Given the description of an element on the screen output the (x, y) to click on. 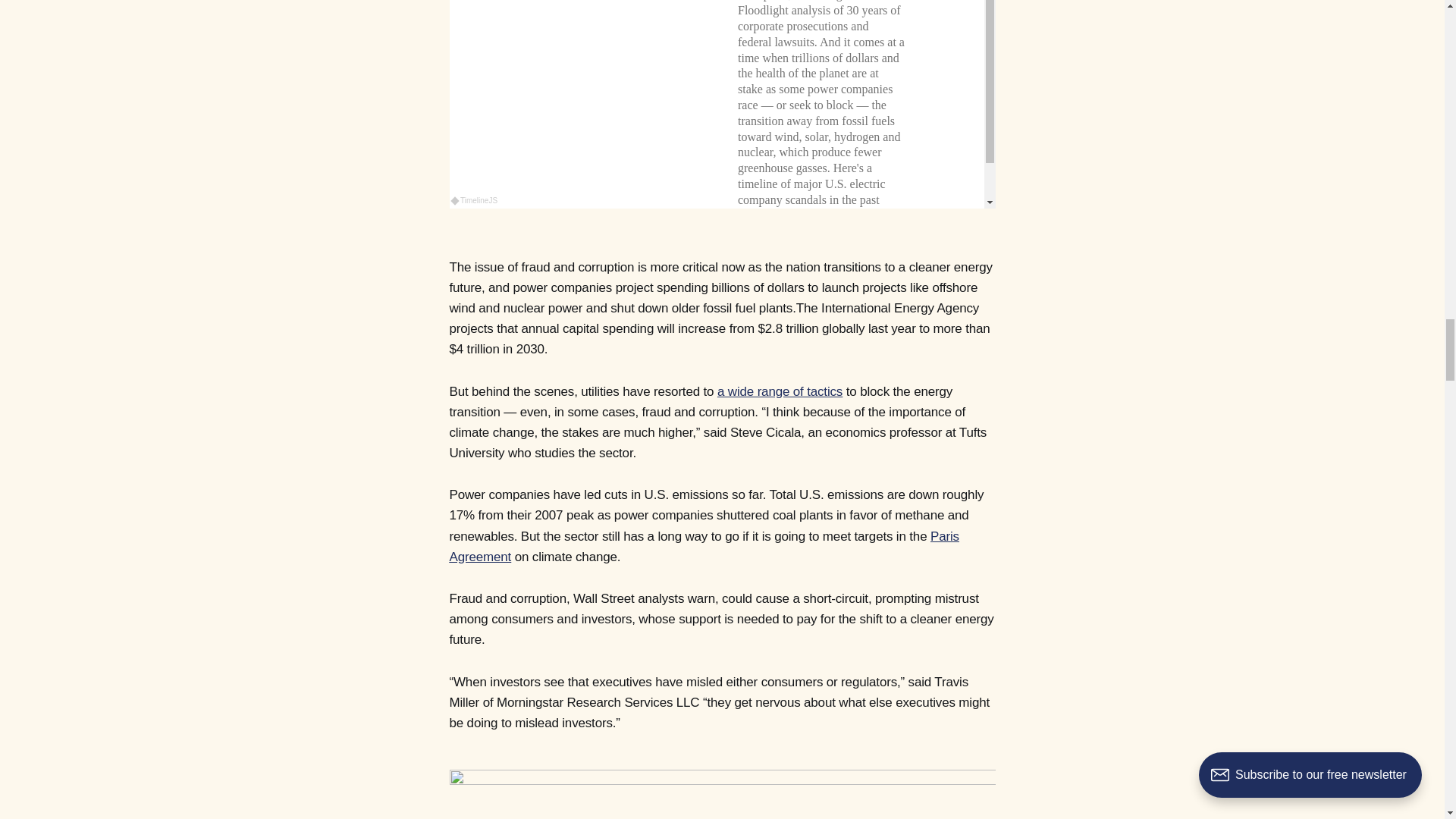
Paris Agreement (703, 546)
a wide range of tactics (780, 391)
